Given the description of an element on the screen output the (x, y) to click on. 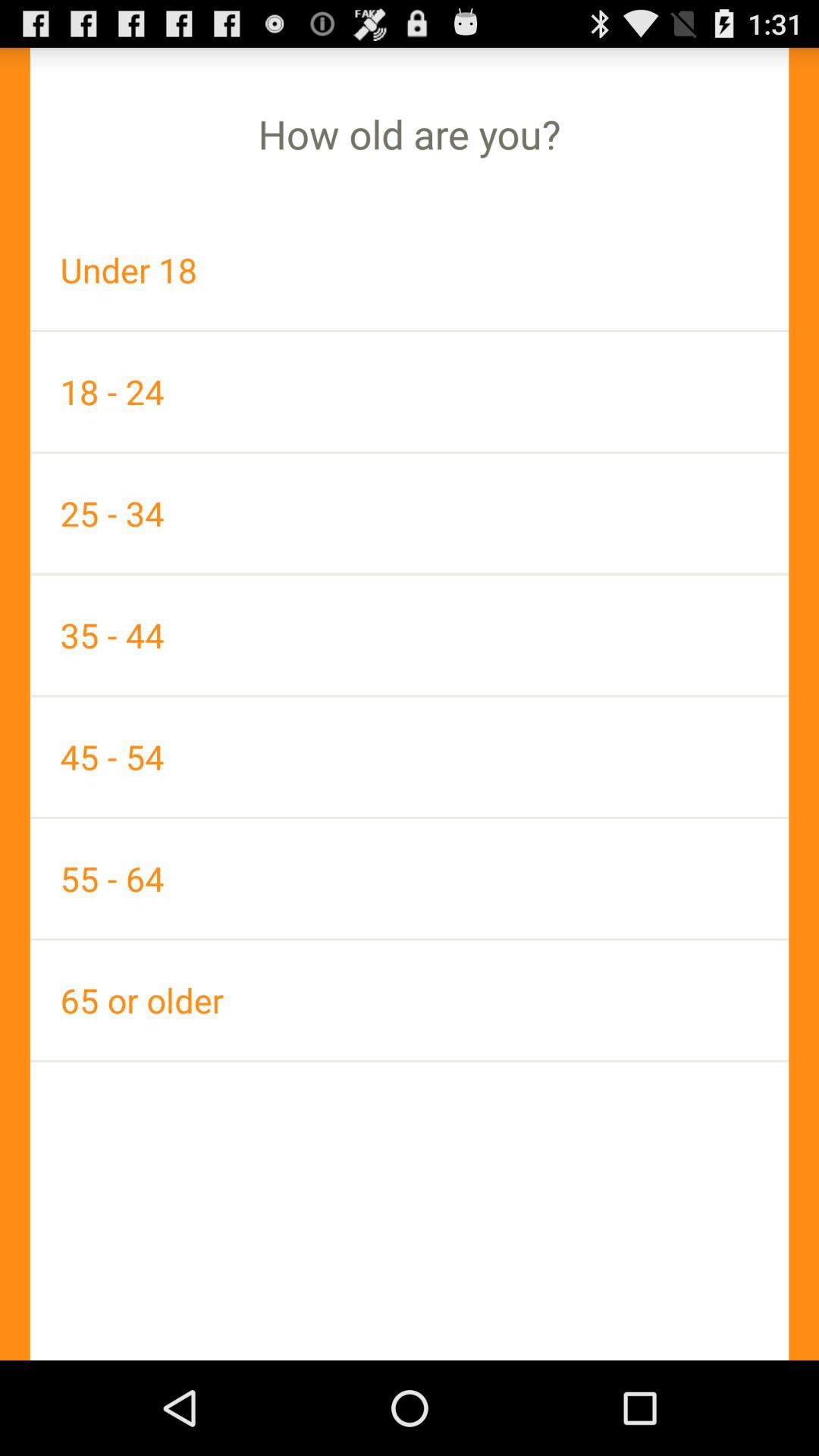
launch 55 - 64 (409, 878)
